Given the description of an element on the screen output the (x, y) to click on. 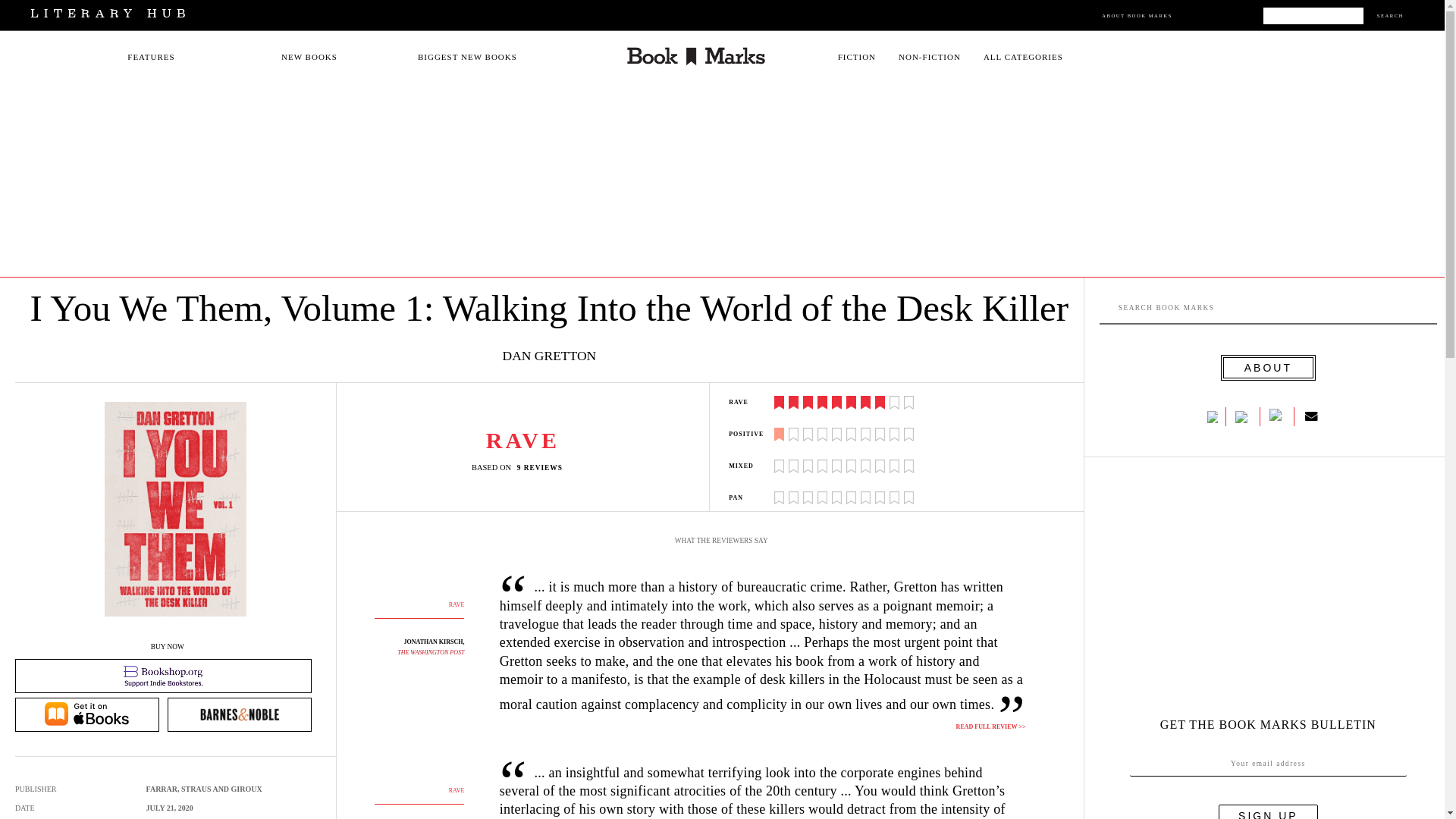
Sign up (1267, 811)
NEW BOOKS (309, 56)
ALL CATEGORIES (1023, 56)
ABOUT BOOK MARKS (1137, 15)
9 REVIEWS (543, 467)
FEATURES (151, 56)
FICTION (857, 56)
THE WASHINGTON POST (430, 652)
3rd party ad content (1263, 595)
NON-FICTION (929, 56)
JONATHAN KIRSCH, (434, 641)
SEARCH (1390, 15)
